Given the description of an element on the screen output the (x, y) to click on. 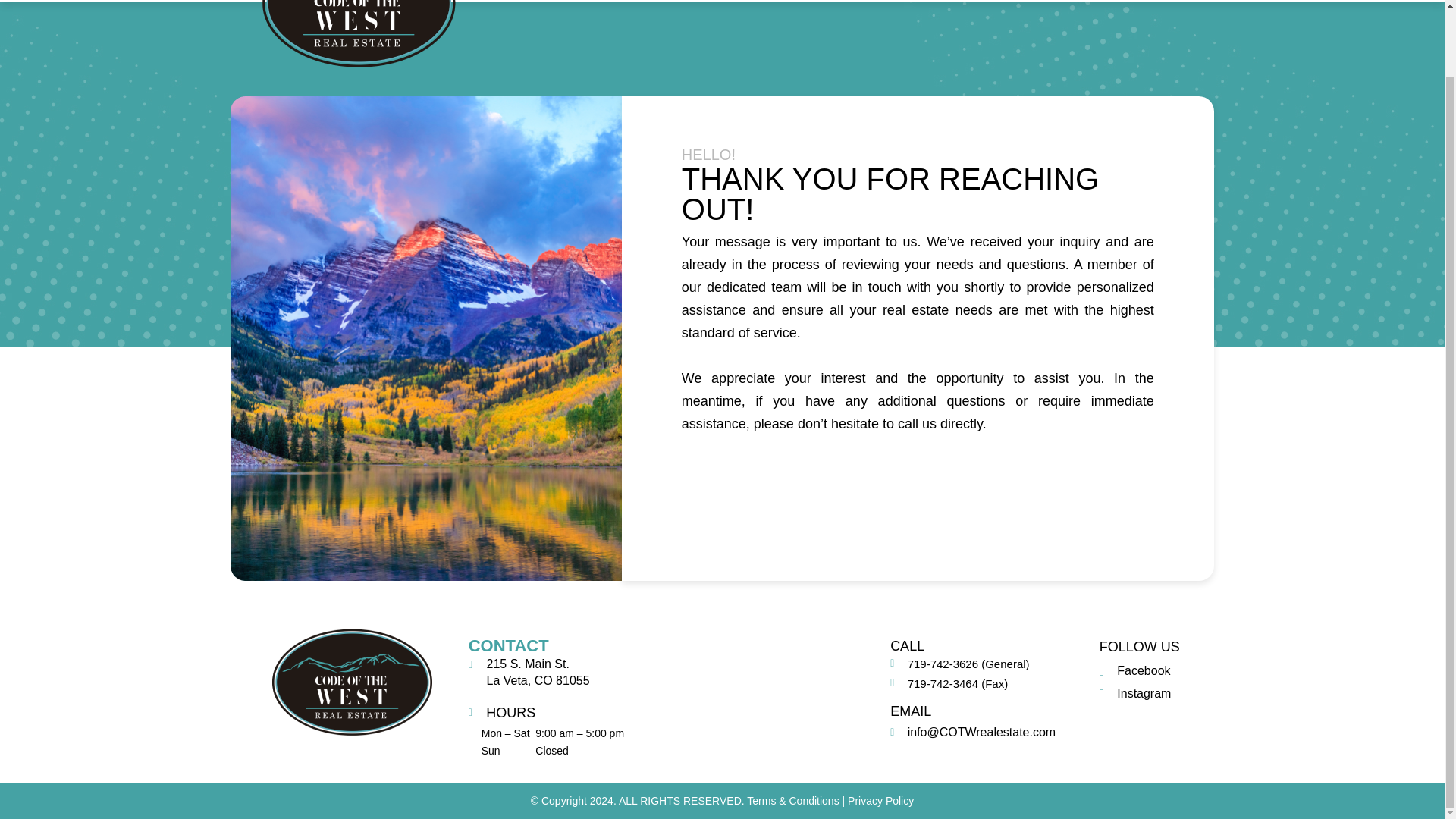
Instagram (1135, 693)
Privacy Policy (880, 800)
215 S. Main St. La Veta, CO 81055 (761, 694)
Facebook (1134, 671)
